Given the description of an element on the screen output the (x, y) to click on. 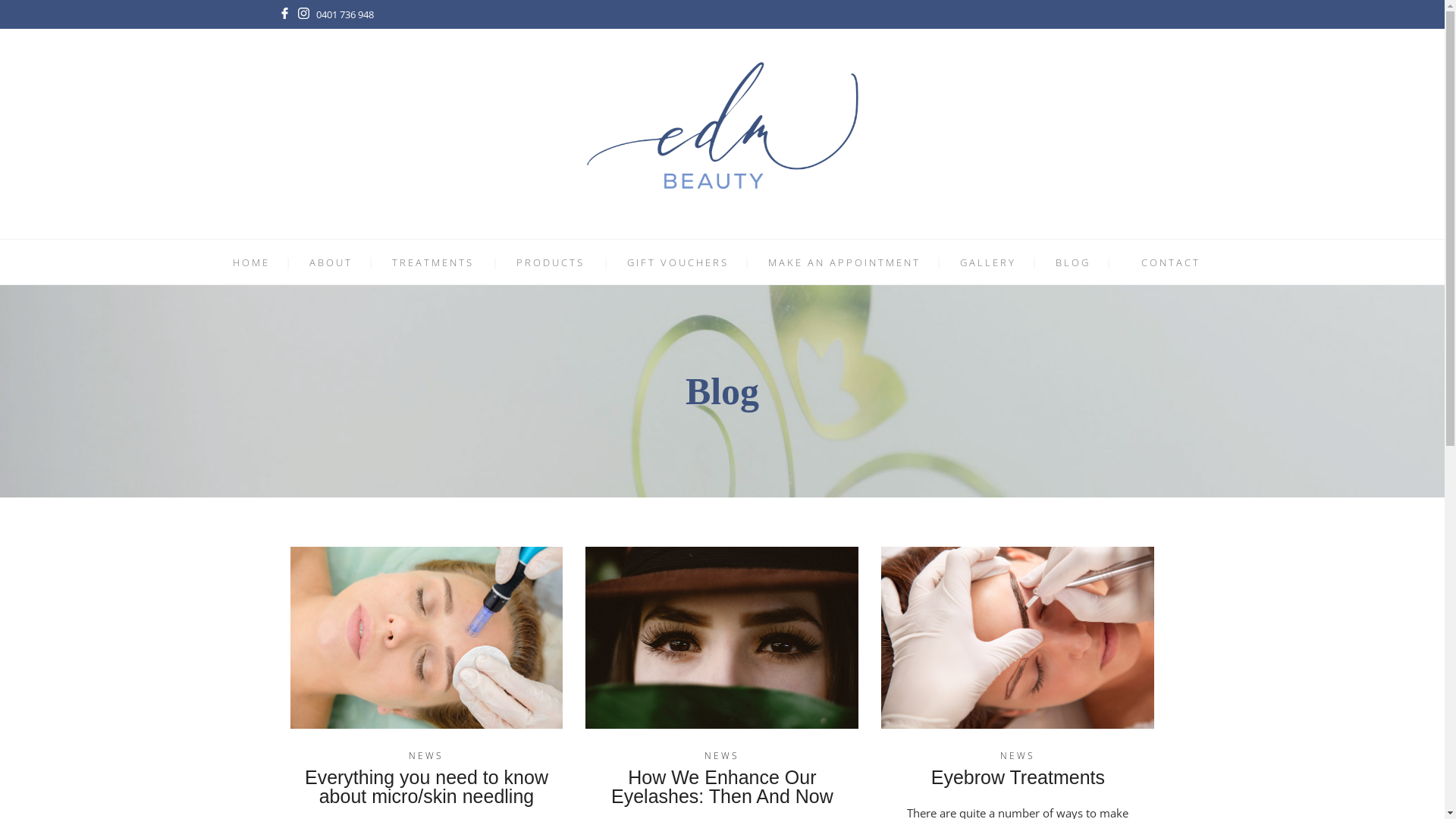
PRODUCTS Element type: text (550, 262)
ABOUT Element type: text (330, 262)
GIFT VOUCHERS Element type: text (677, 262)
MAKE AN APPOINTMENT Element type: text (844, 262)
GALLERY Element type: text (988, 262)
TREATMENTS Element type: text (432, 262)
HOME Element type: text (250, 262)
CONTACT Element type: text (1170, 262)
BLOG Element type: text (1072, 262)
